Given the description of an element on the screen output the (x, y) to click on. 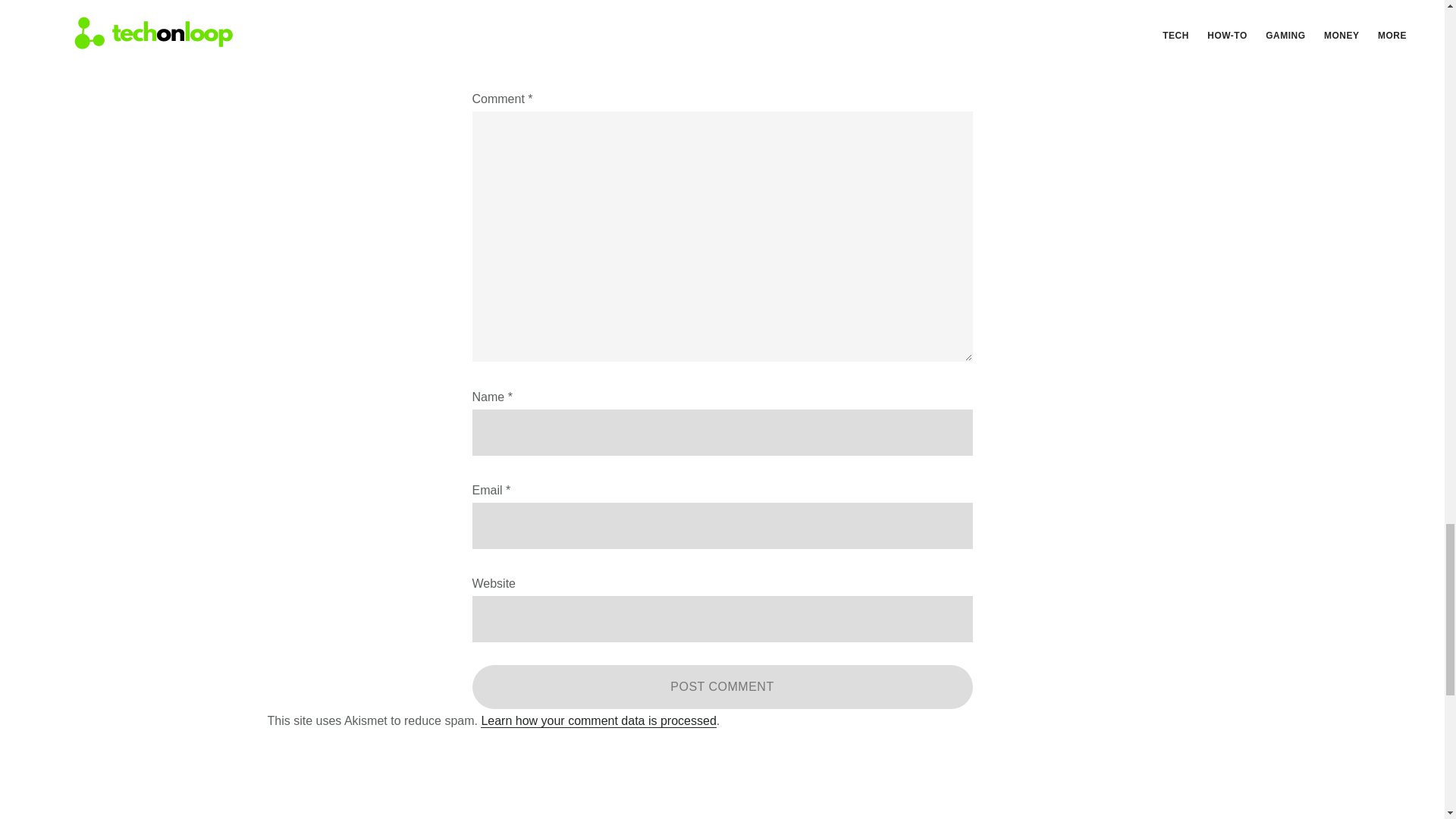
Post Comment (721, 687)
Learn how your comment data is processed (598, 721)
Post Comment (721, 687)
